Given the description of an element on the screen output the (x, y) to click on. 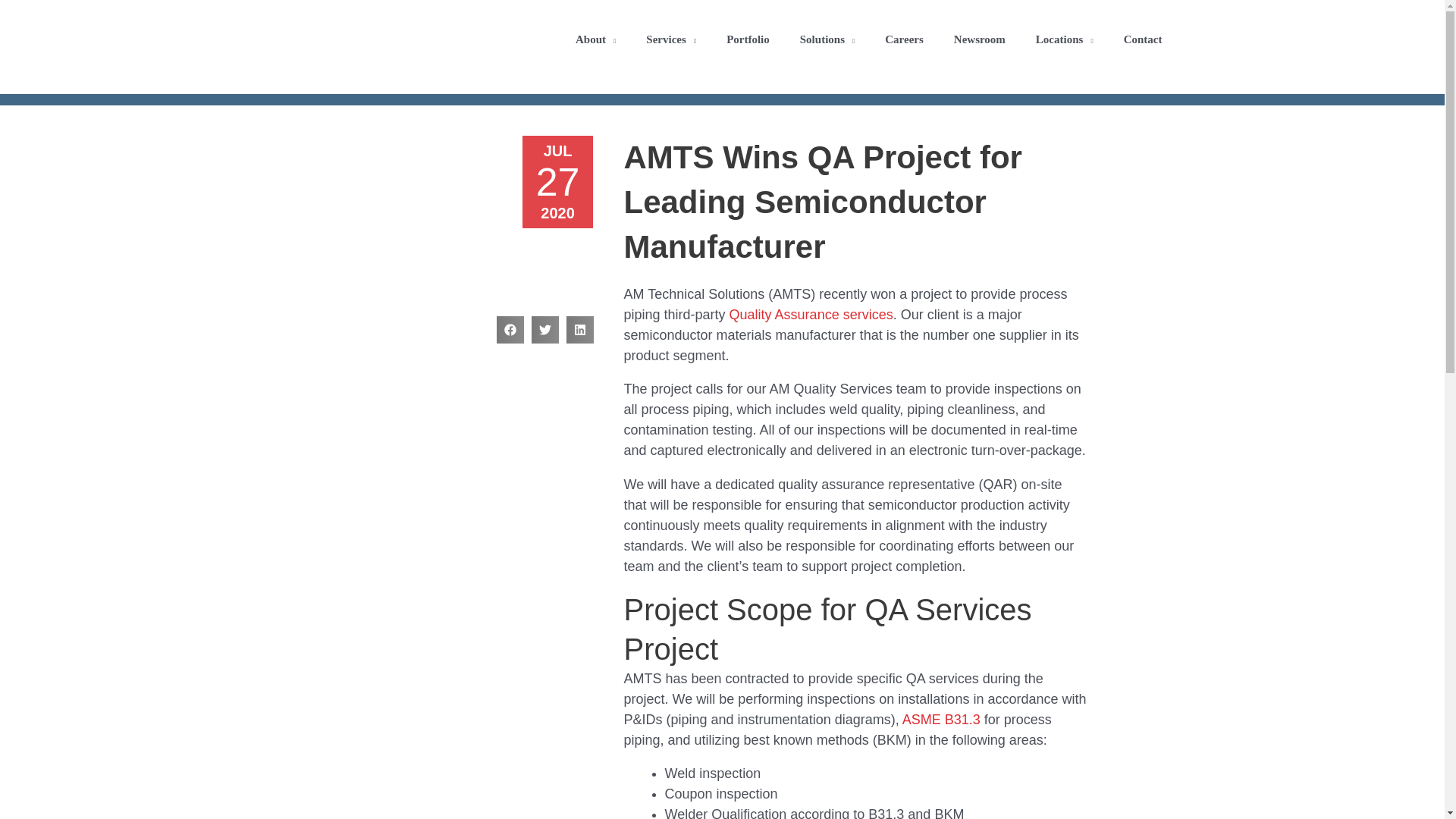
About (595, 39)
AMTS Wins QA Project for Leading Semiconductor Manufacturer (467, 218)
Newsroom (979, 39)
Locations (1064, 39)
Solutions (827, 39)
Contact (1142, 39)
Careers (904, 39)
Services (670, 39)
Portfolio (747, 39)
